Given the description of an element on the screen output the (x, y) to click on. 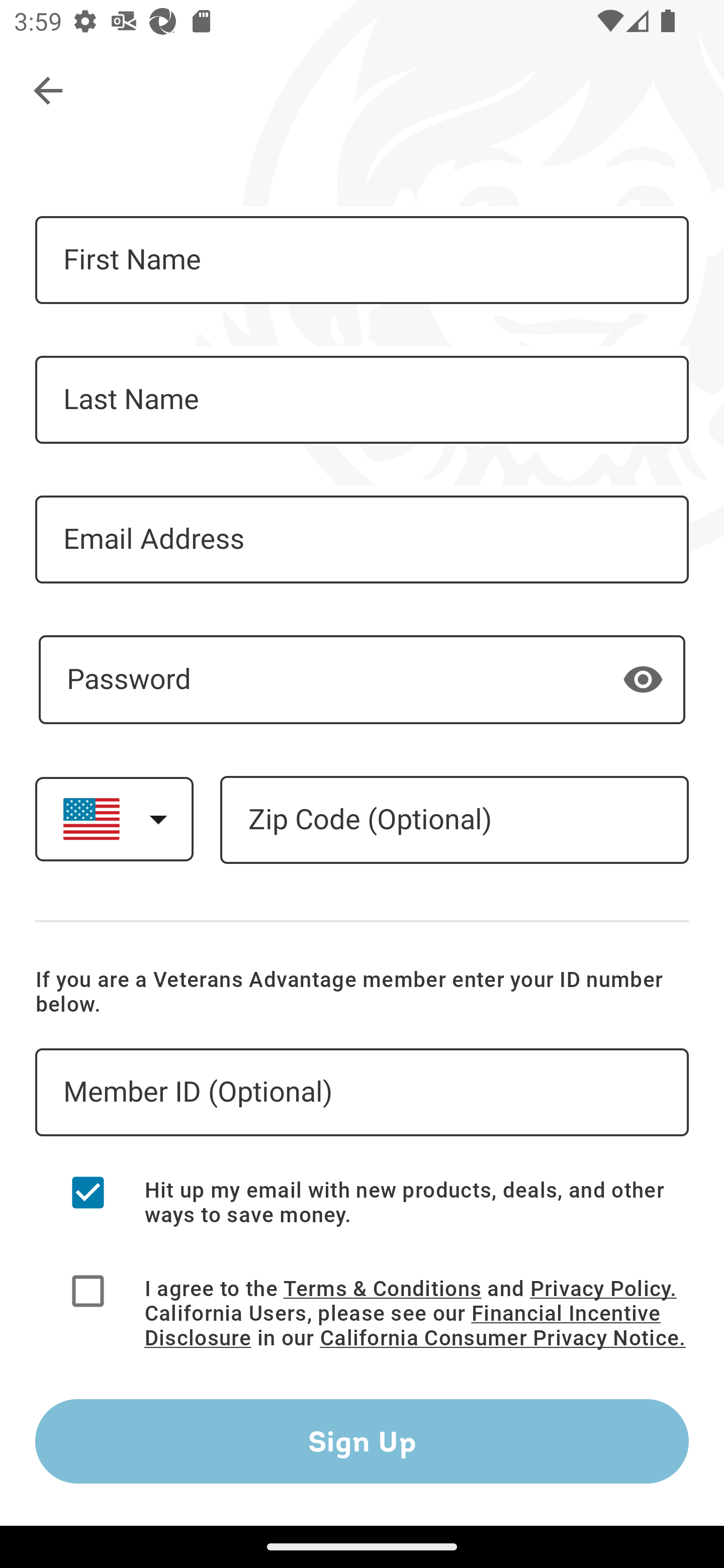
Navigate up (49, 91)
First Name - Required (361, 260)
Last Name - Required (361, 399)
Email Address - Required (361, 539)
- Required (361, 679)
Show password (642, 678)
Zip Code – Optional (454, 819)
Select a country. United States selected. (114, 818)
Veterans Advantage ID – Optional (361, 1092)
Sign Up (361, 1440)
